Given the description of an element on the screen output the (x, y) to click on. 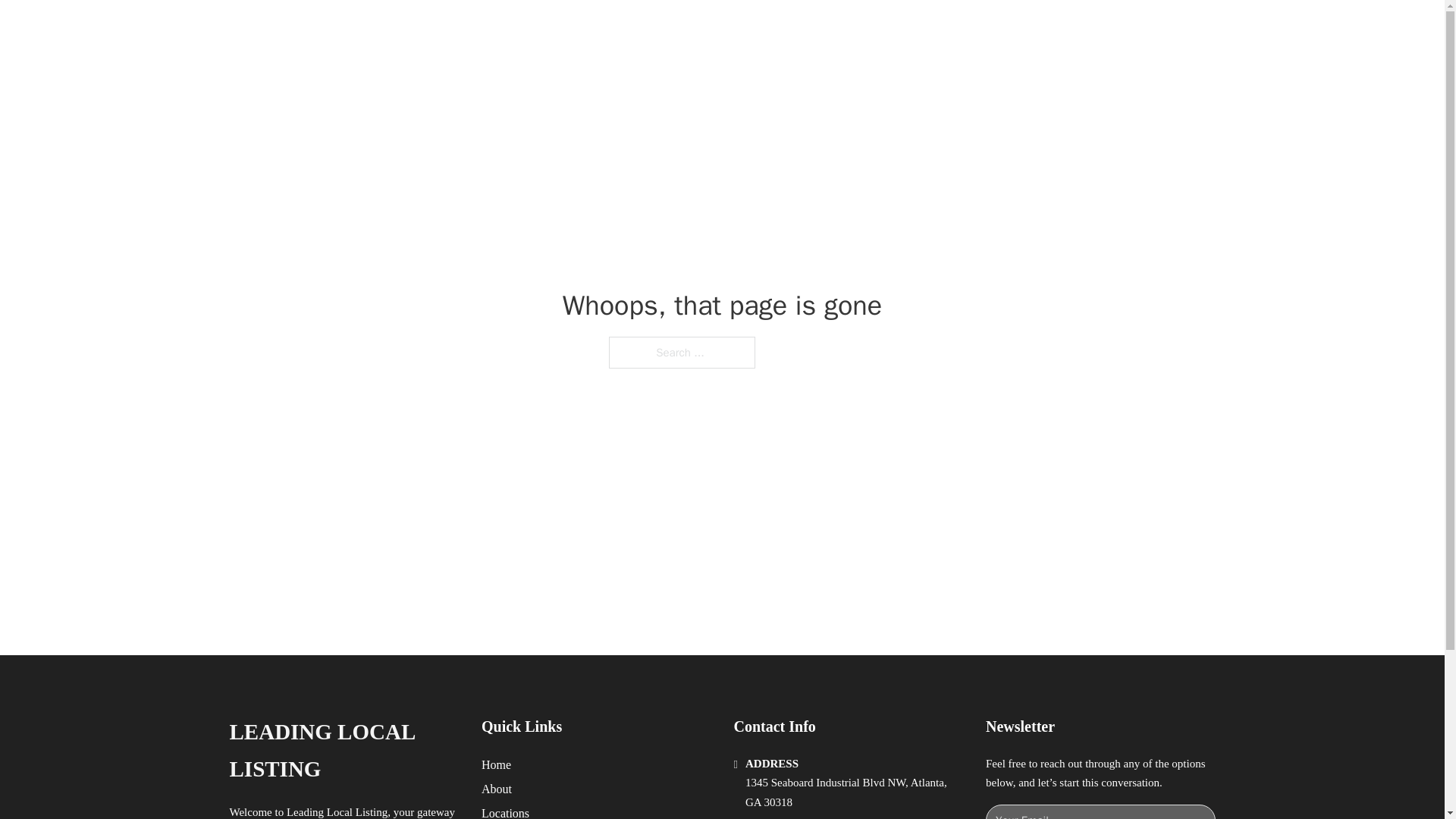
LEADING LOCAL LISTING (343, 750)
Locations (505, 811)
Home (496, 764)
About (496, 788)
LEADING LOCAL LISTING (430, 28)
